Given the description of an element on the screen output the (x, y) to click on. 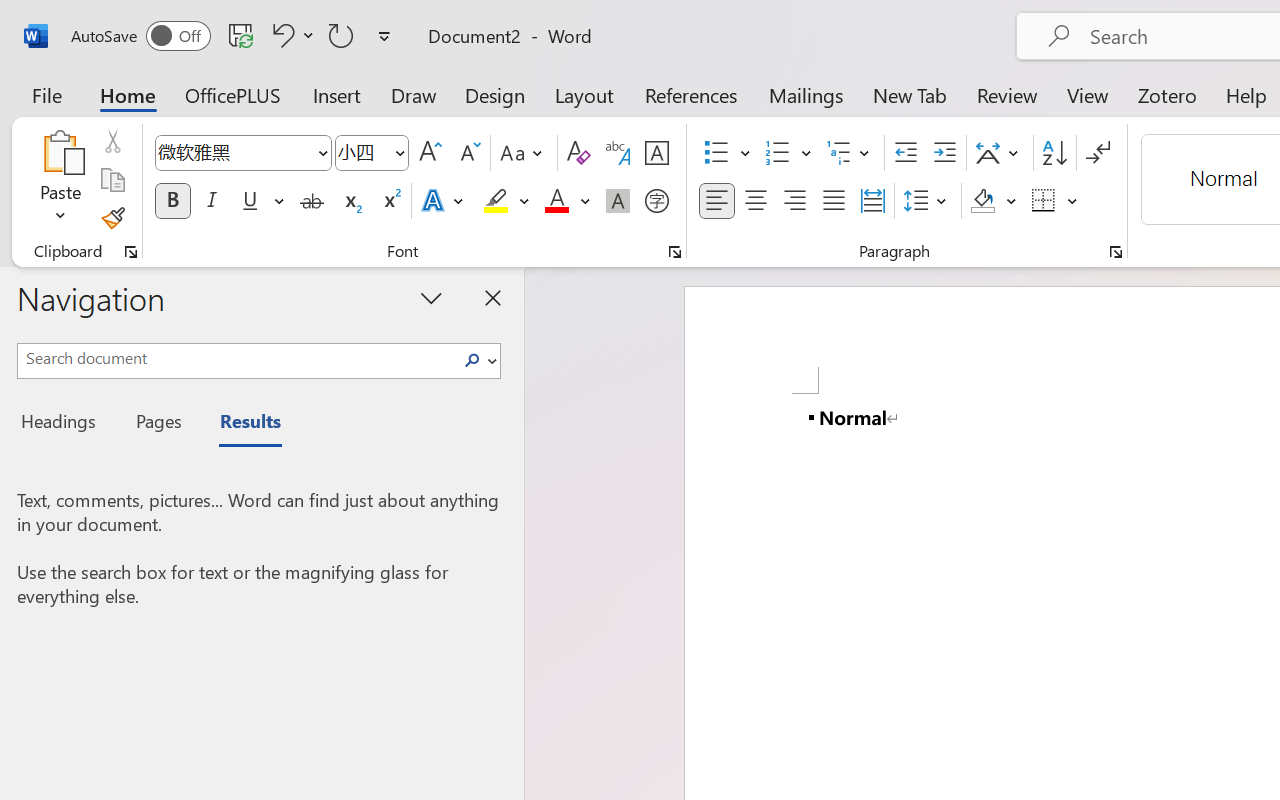
Paste (60, 179)
Phonetic Guide... (618, 153)
Format Painter (112, 218)
New Tab (909, 94)
Paste (60, 151)
Underline (261, 201)
More Options (1073, 201)
Align Right (794, 201)
Numbering (788, 153)
Center (756, 201)
